Given the description of an element on the screen output the (x, y) to click on. 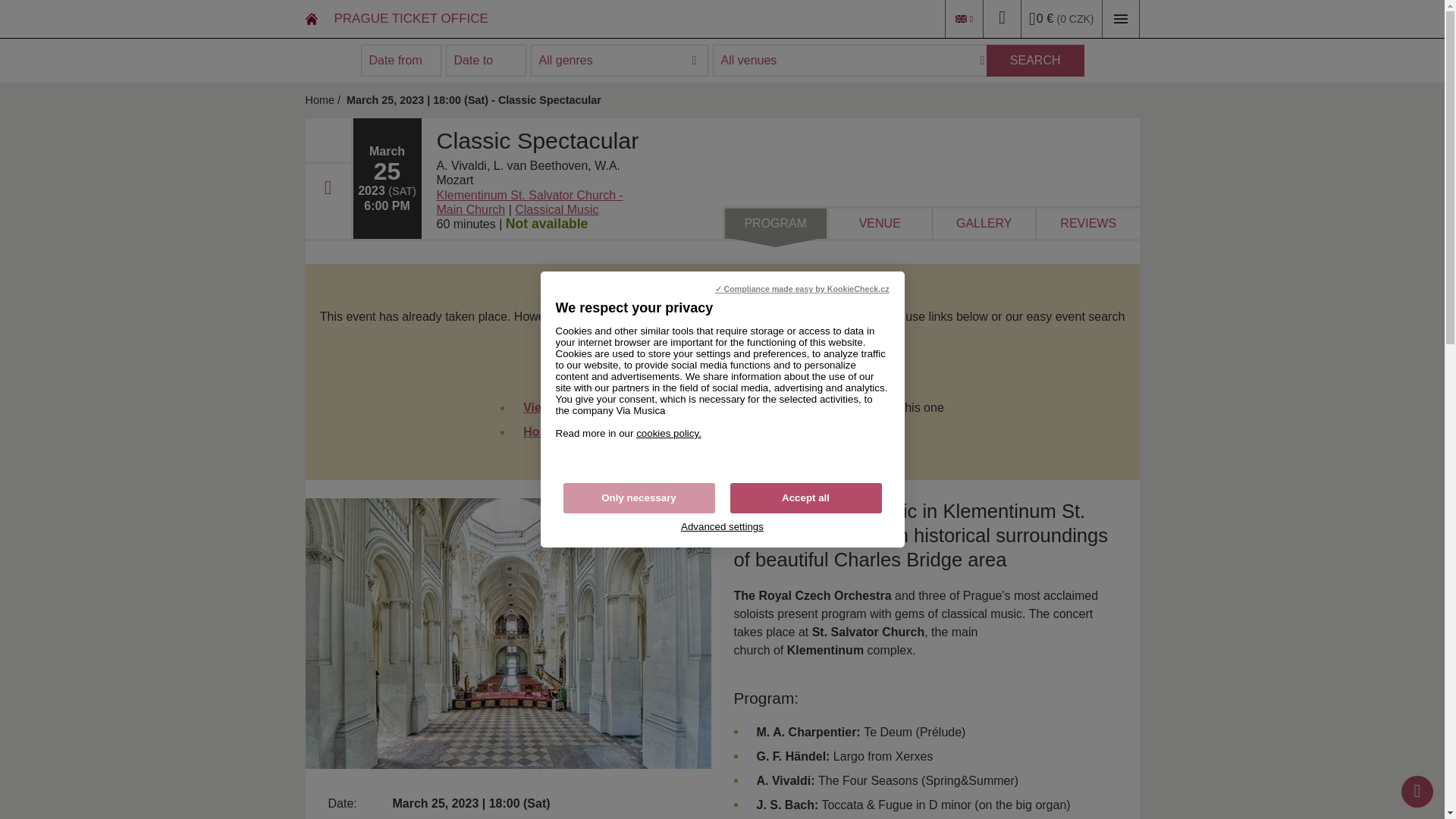
Status (546, 223)
VENUE (879, 223)
cookies policy. (668, 432)
Venue (529, 202)
Klementinum St. Salvator Church - Main Church (529, 202)
Duration (466, 223)
All venues (853, 60)
Order selected tickets (1060, 18)
Go to homepage (318, 100)
Look for results (1035, 60)
